Given the description of an element on the screen output the (x, y) to click on. 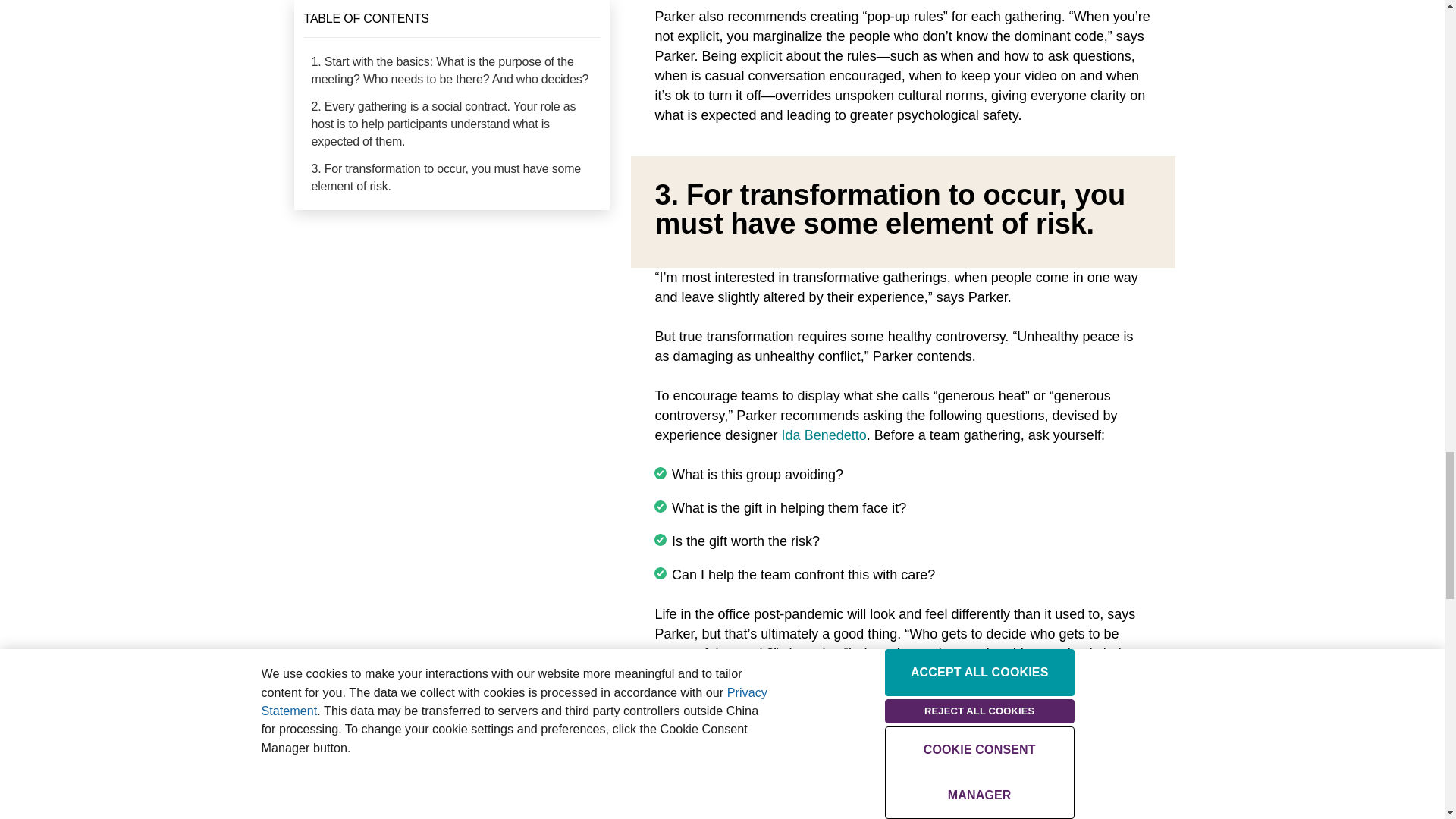
Ida (793, 435)
Benedetto (835, 435)
